Given the description of an element on the screen output the (x, y) to click on. 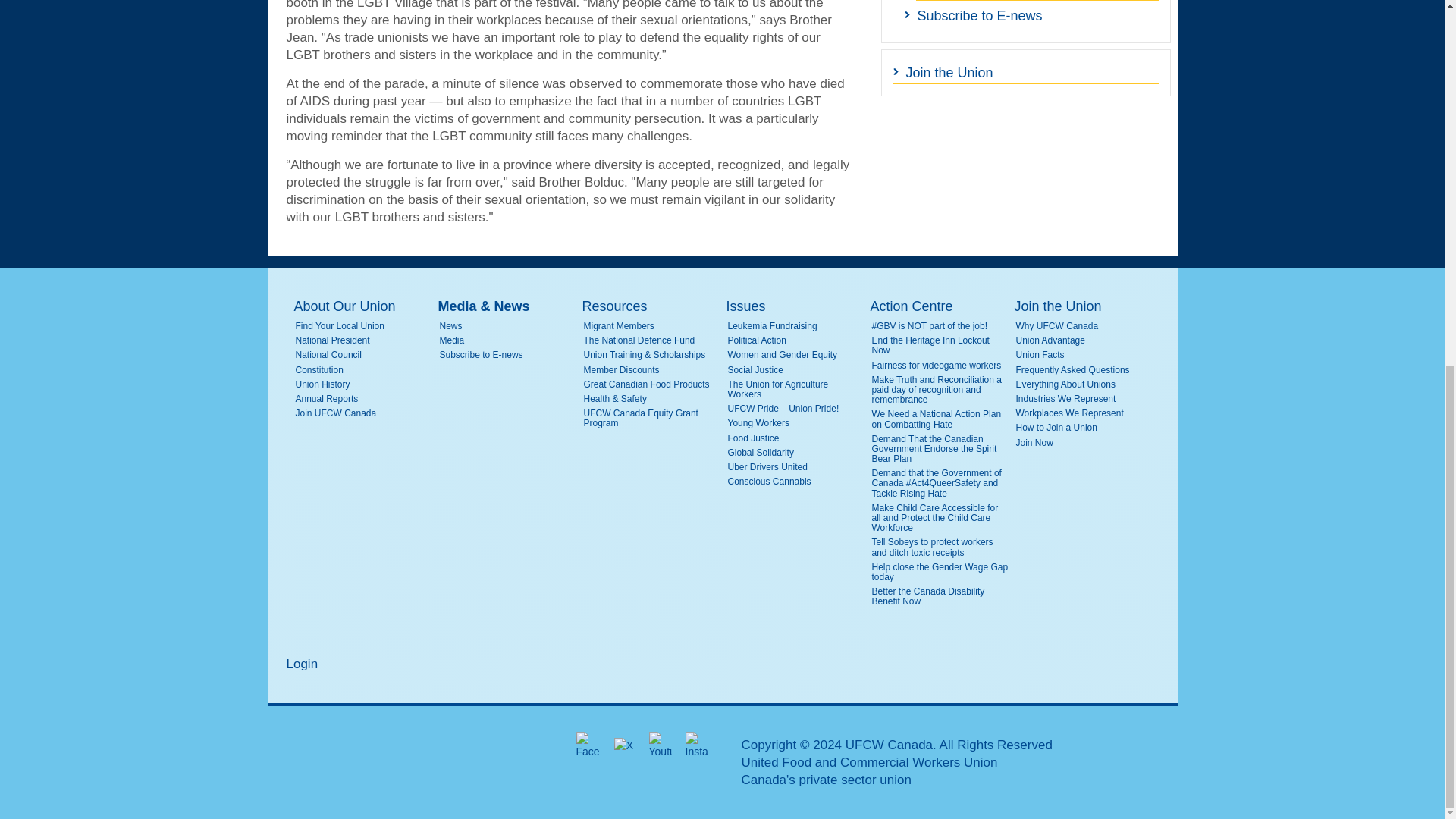
  X (623, 744)
